Given the description of an element on the screen output the (x, y) to click on. 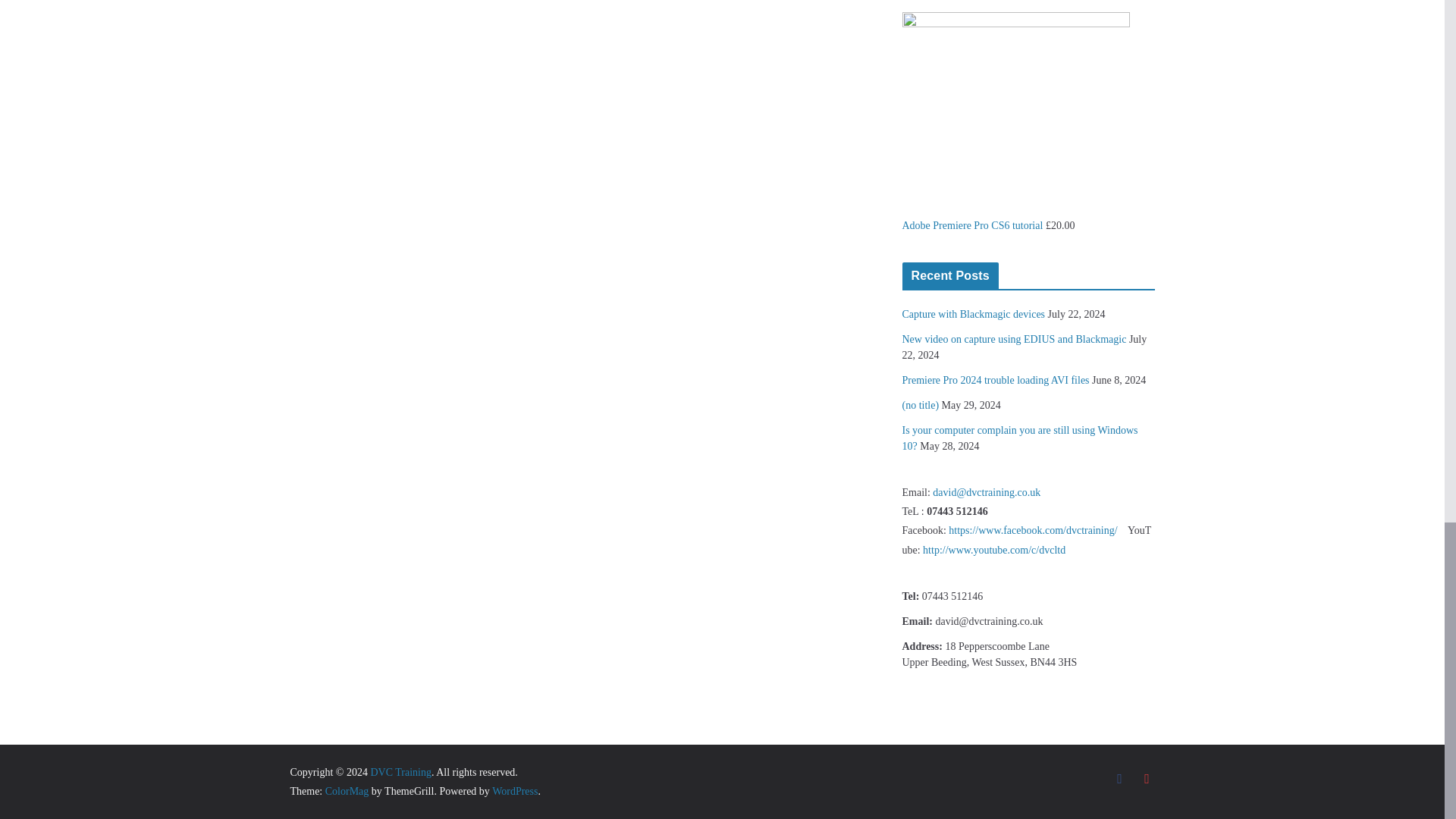
ColorMag (346, 790)
DVC Training (399, 772)
WordPress (514, 790)
